Given the description of an element on the screen output the (x, y) to click on. 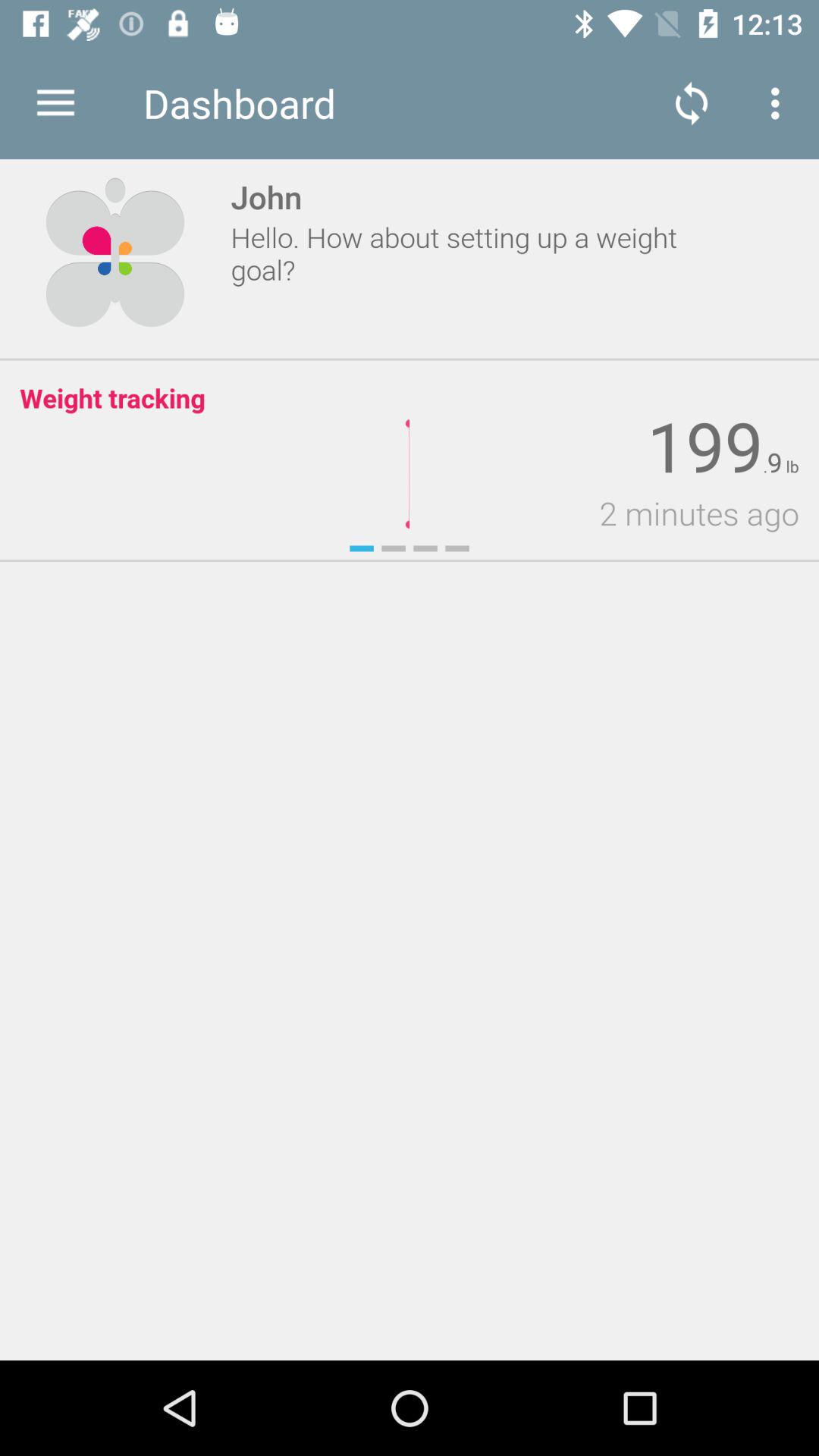
jump until hello how about item (471, 253)
